Given the description of an element on the screen output the (x, y) to click on. 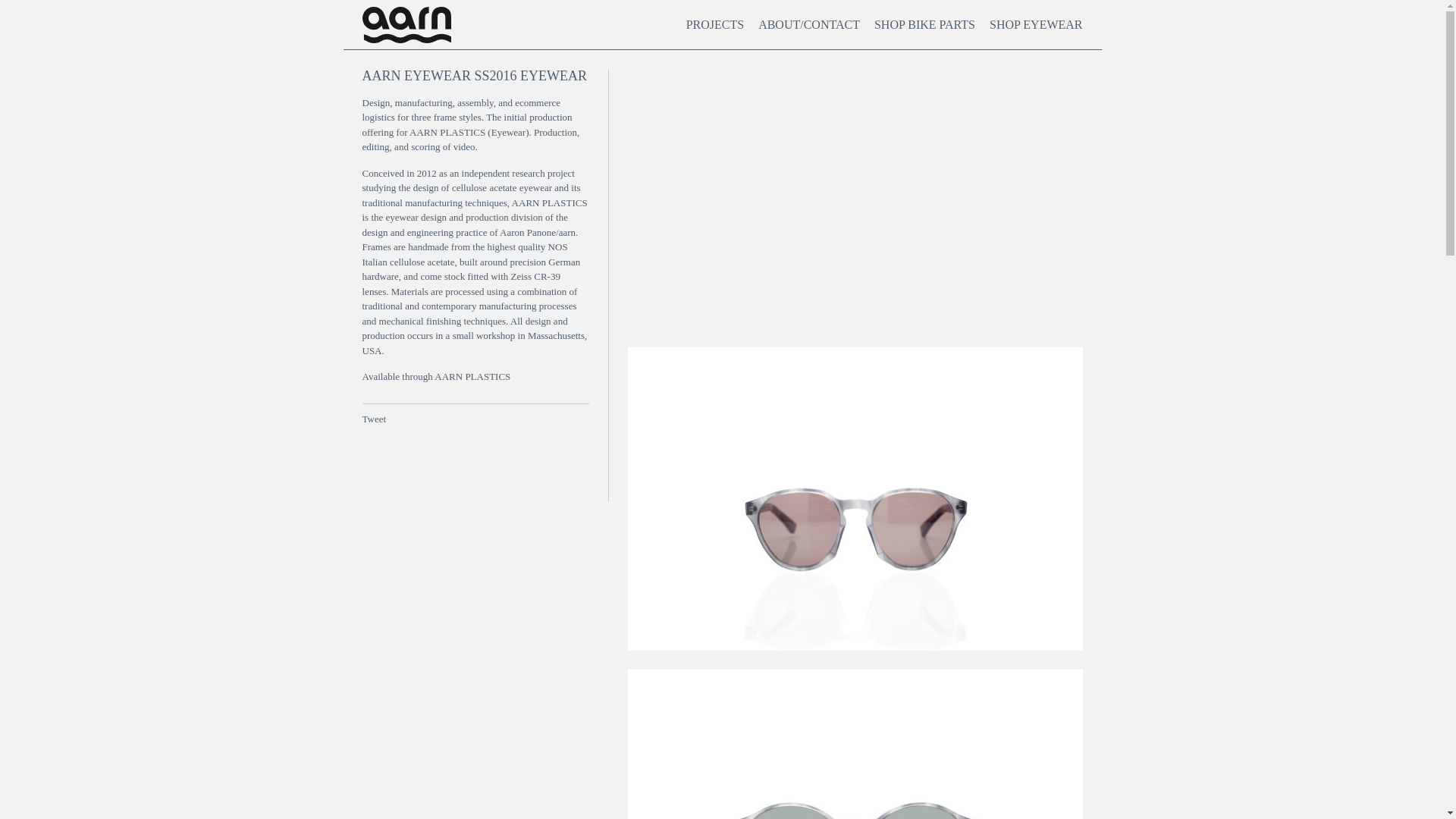
SHOP BIKE PARTS (925, 24)
Tweet (374, 418)
PROJECTS (714, 24)
SHOP EYEWEAR (1036, 24)
AARN PLASTICS (472, 376)
